Given the description of an element on the screen output the (x, y) to click on. 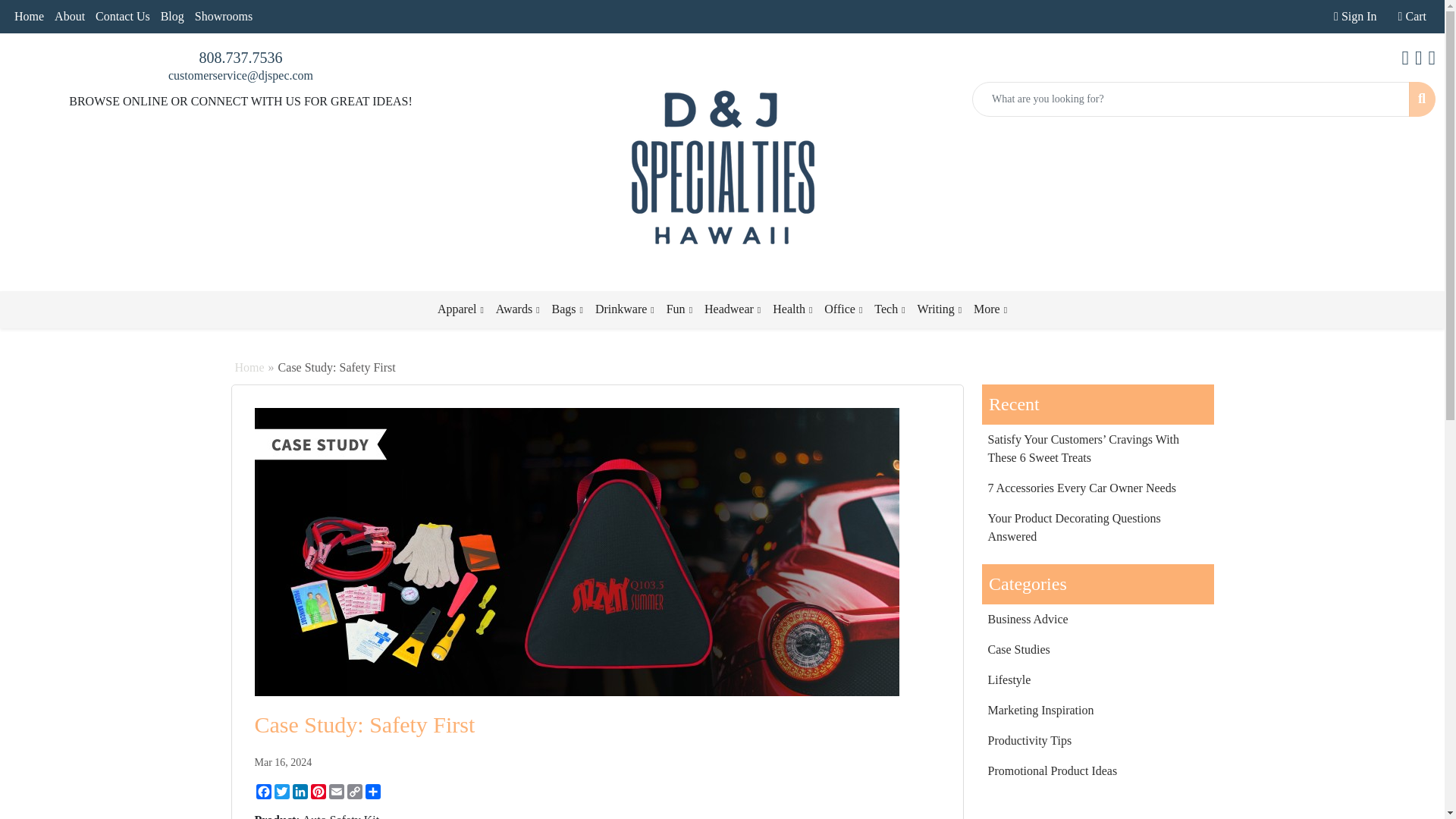
Showrooms (223, 16)
808.737.7536 (240, 57)
Contact Us (122, 16)
Home (28, 16)
About (69, 16)
Blog (172, 16)
Apparel (459, 309)
Sign In (1354, 16)
Cart (1412, 16)
